Given the description of an element on the screen output the (x, y) to click on. 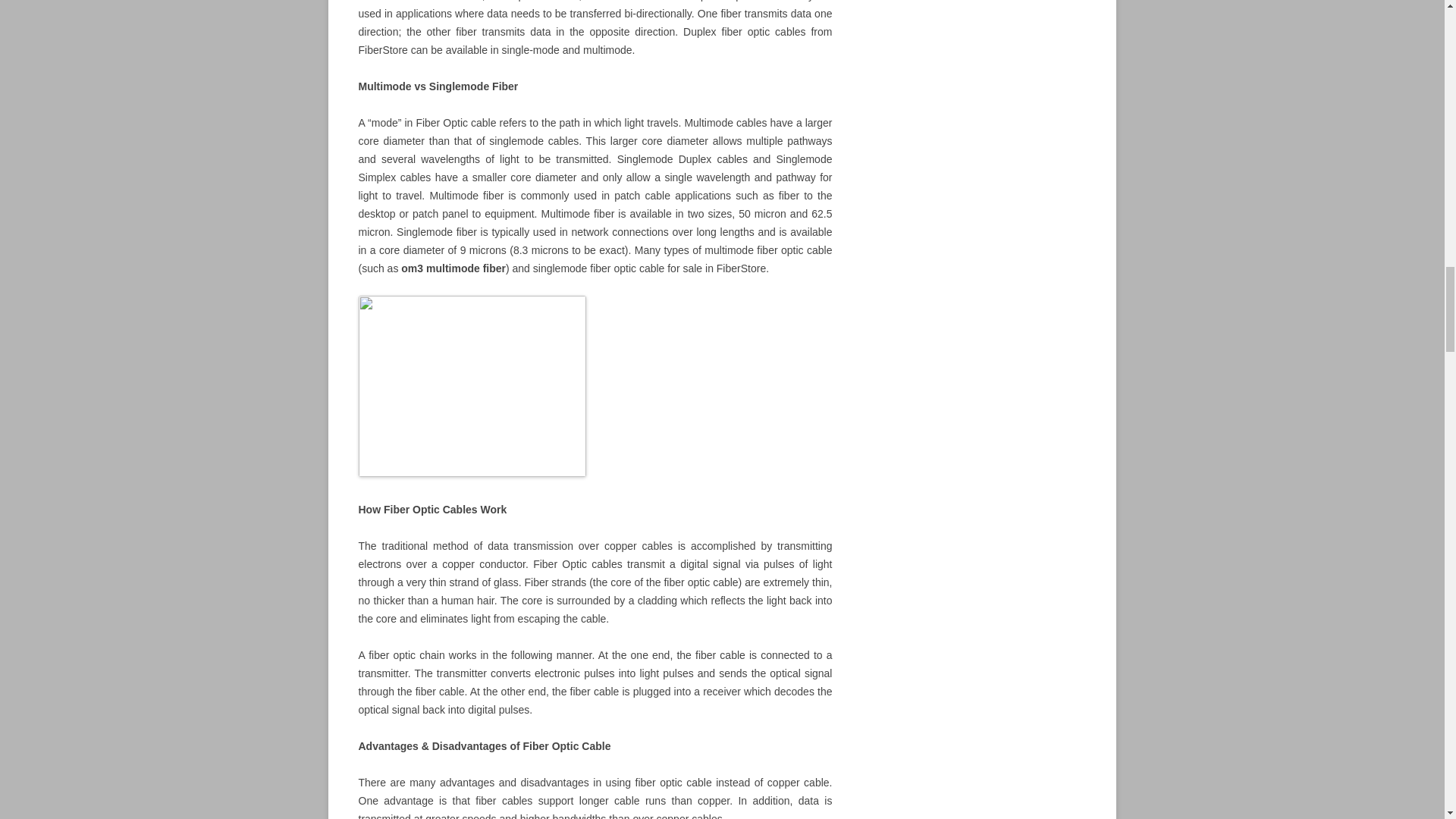
111 (471, 385)
